Given the description of an element on the screen output the (x, y) to click on. 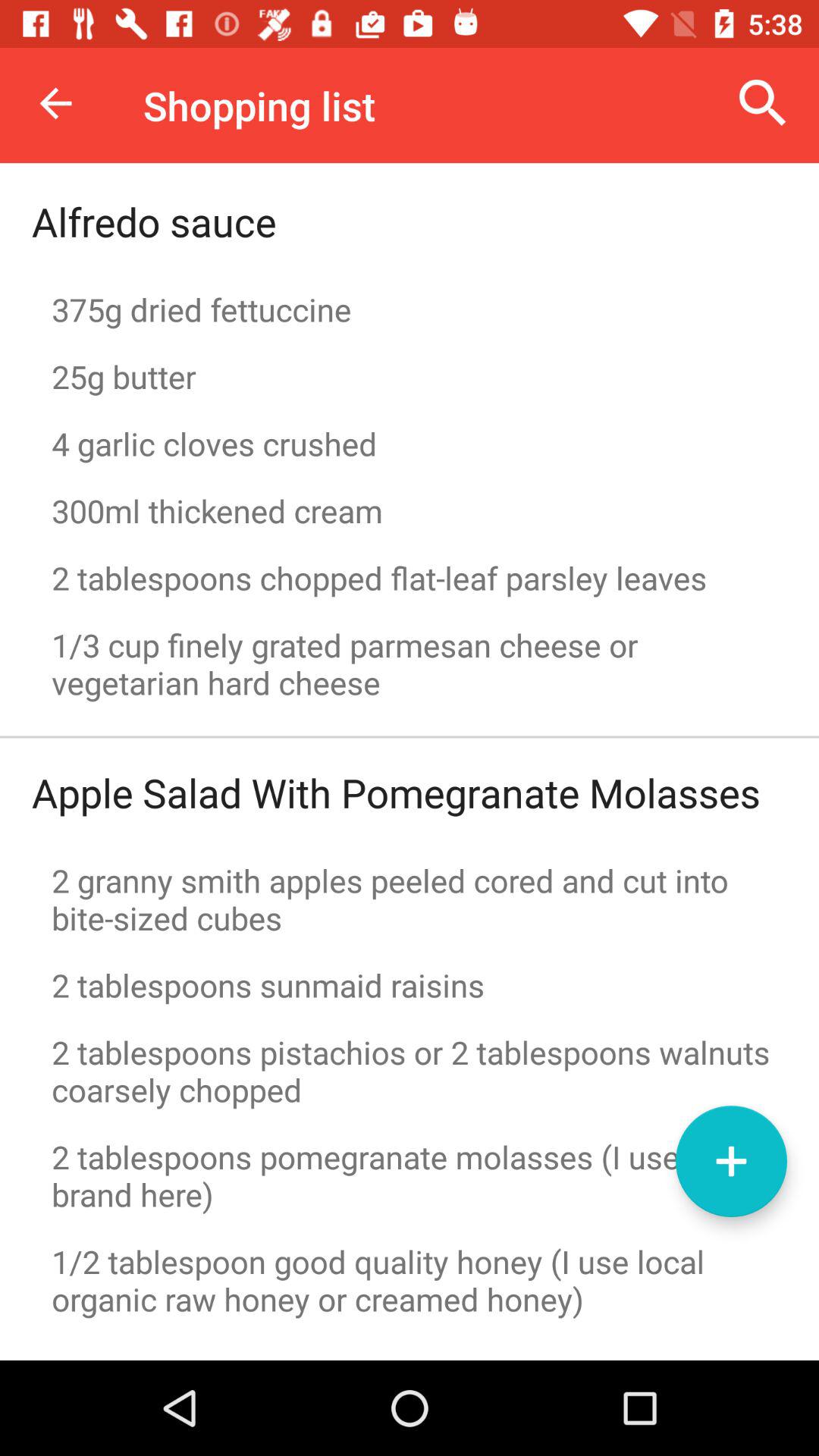
press item below 4 garlic cloves icon (409, 510)
